Given the description of an element on the screen output the (x, y) to click on. 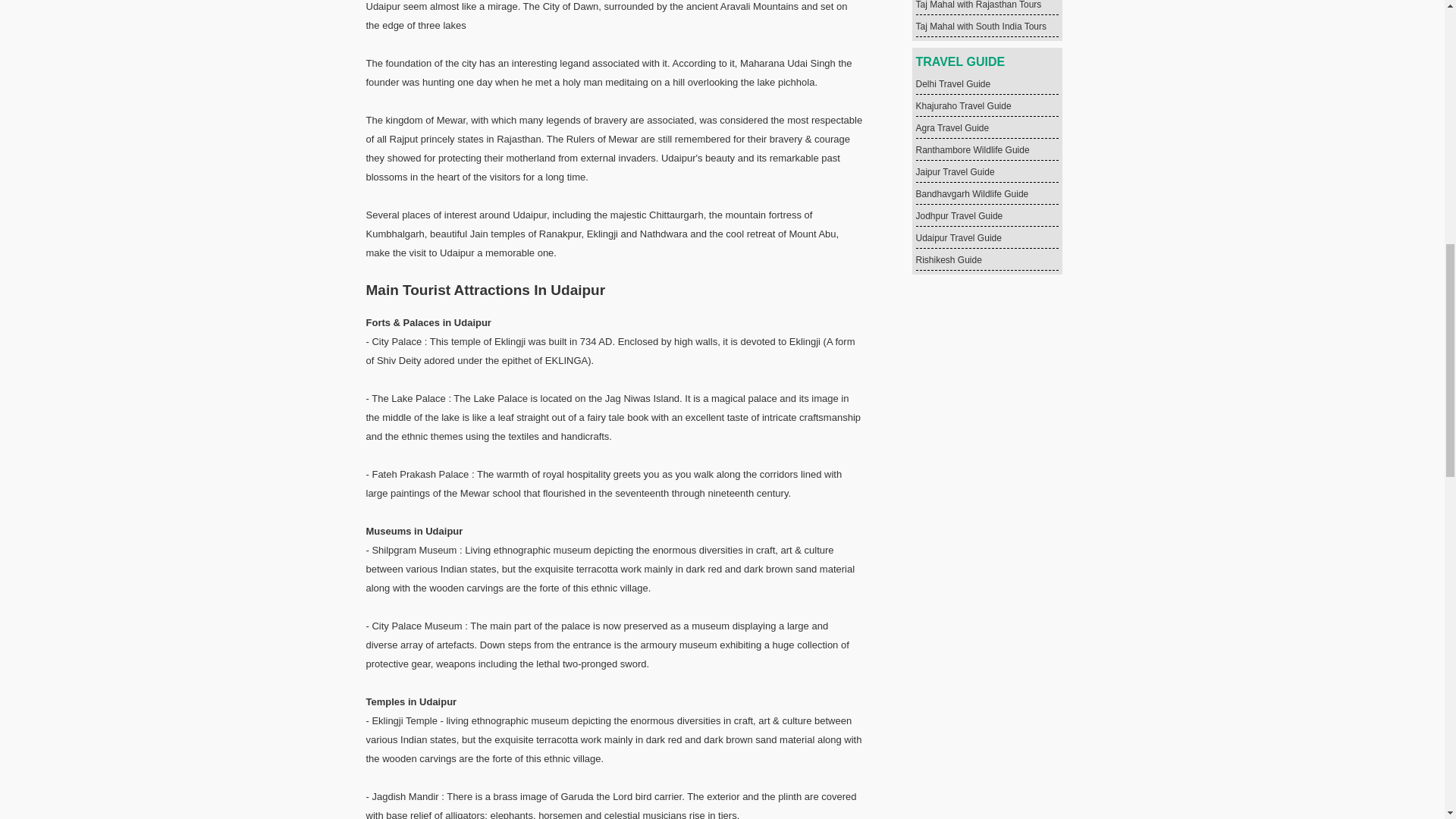
Khajuraho Travel Guide (963, 105)
Ranthambore Wildlife Guide (972, 149)
Delhi Travel Guide (953, 83)
Jaipur Travel Guide (954, 172)
Udaipur Travel Guide (958, 237)
Jodhpur Travel Guide (959, 215)
Agra Travel Guide (952, 127)
Taj Mahal with Rajasthan Tours (978, 4)
Taj Mahal with South India Tours (980, 26)
Rishikesh Guide (948, 259)
